Given the description of an element on the screen output the (x, y) to click on. 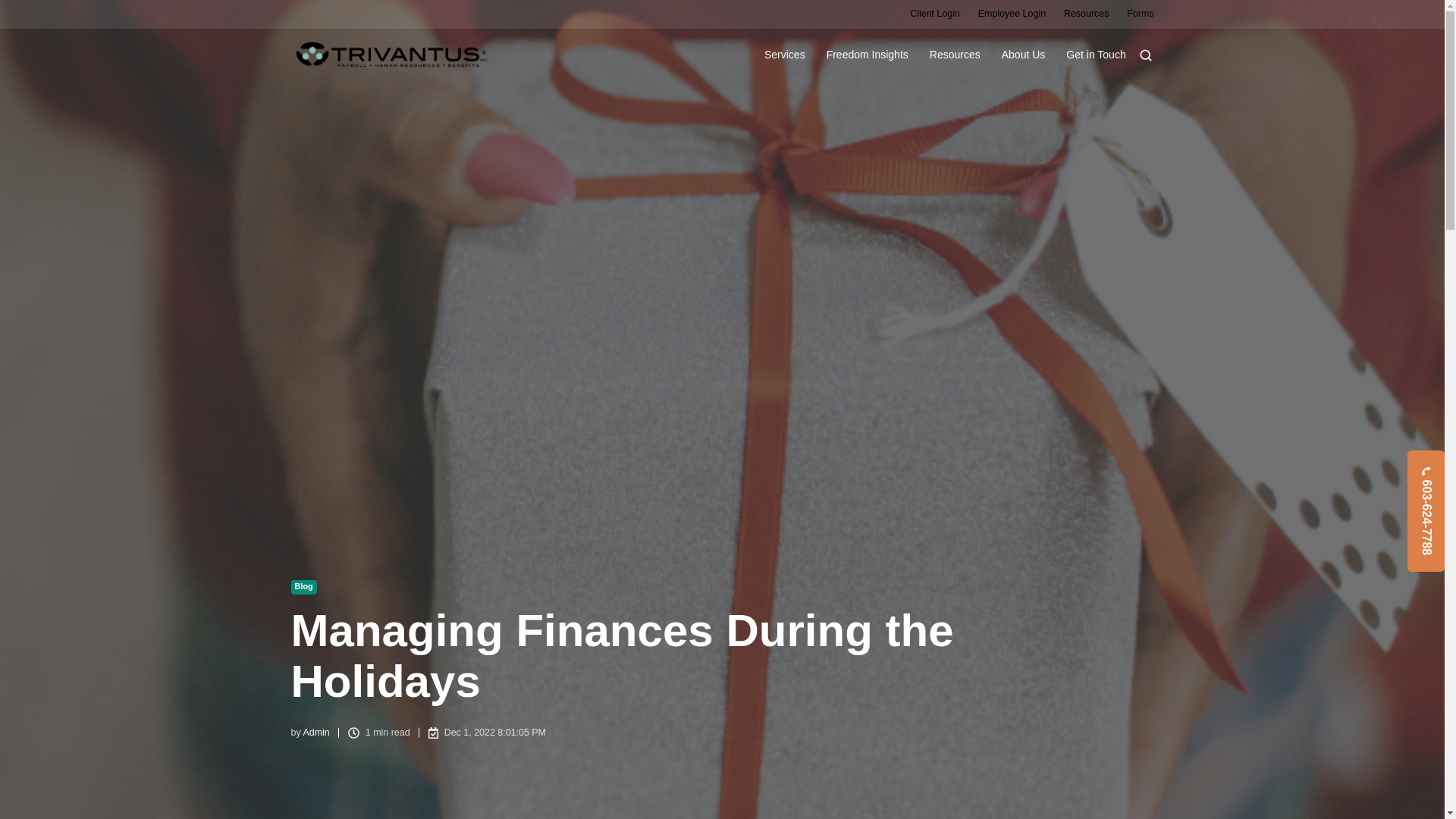
Forms (1139, 13)
Employee Login (1011, 13)
Client Login (934, 13)
Freedom Insights (867, 54)
About Us (1023, 54)
Services (784, 54)
Resources (1086, 13)
Client Login (934, 13)
Forms (1139, 13)
Resources (1086, 13)
Get in Touch (1095, 54)
Trivantus Logo (392, 55)
Resources (954, 54)
Employee Login (1011, 13)
